Given the description of an element on the screen output the (x, y) to click on. 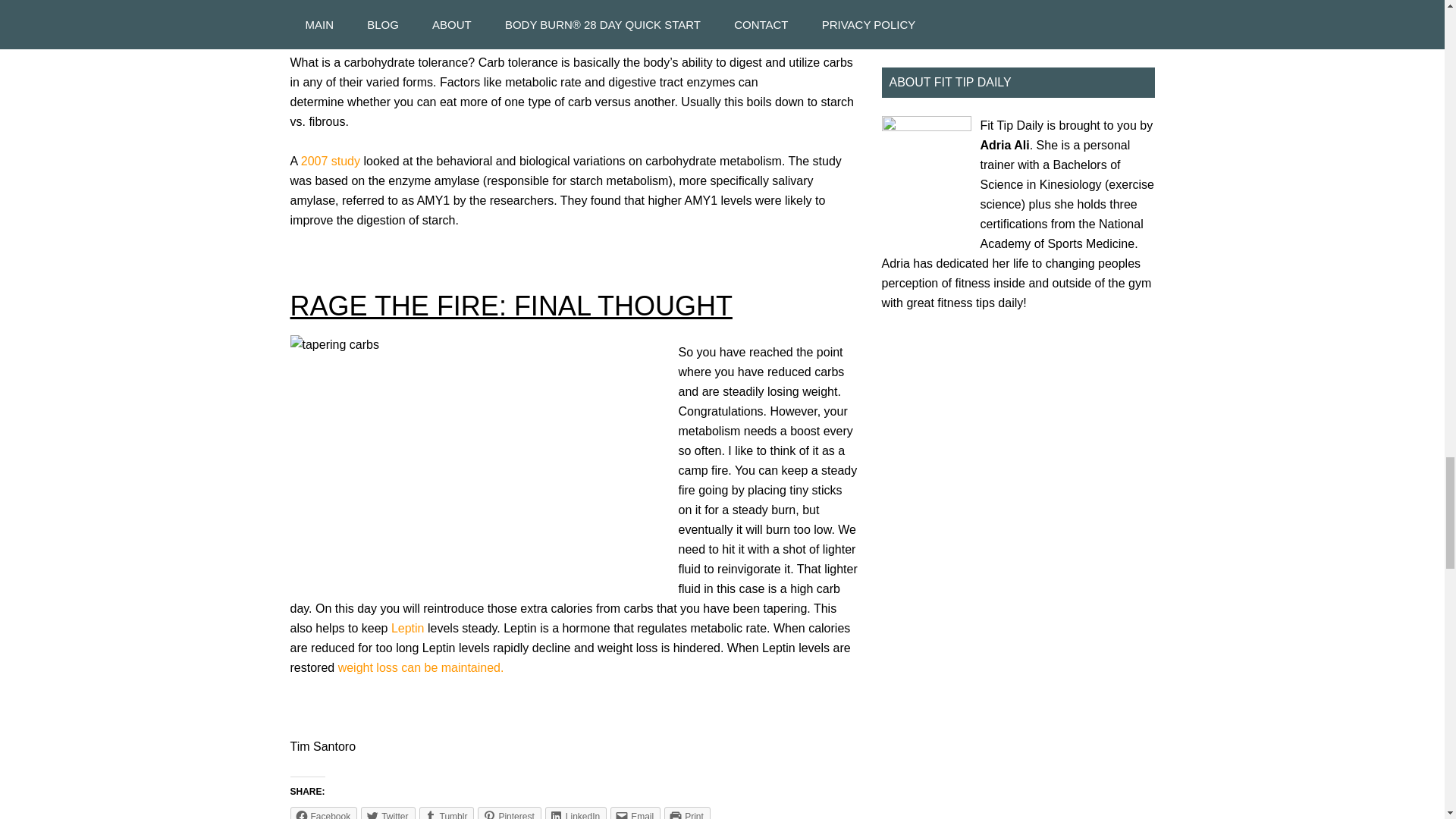
Email (635, 812)
Click to share on Pinterest (508, 812)
Click to email this to a friend (635, 812)
Tumblr (446, 812)
2007 study (332, 160)
LinkedIn (575, 812)
Leptin (409, 627)
Pinterest (508, 812)
Click to share on Tumblr (446, 812)
Twitter (387, 812)
